Given the description of an element on the screen output the (x, y) to click on. 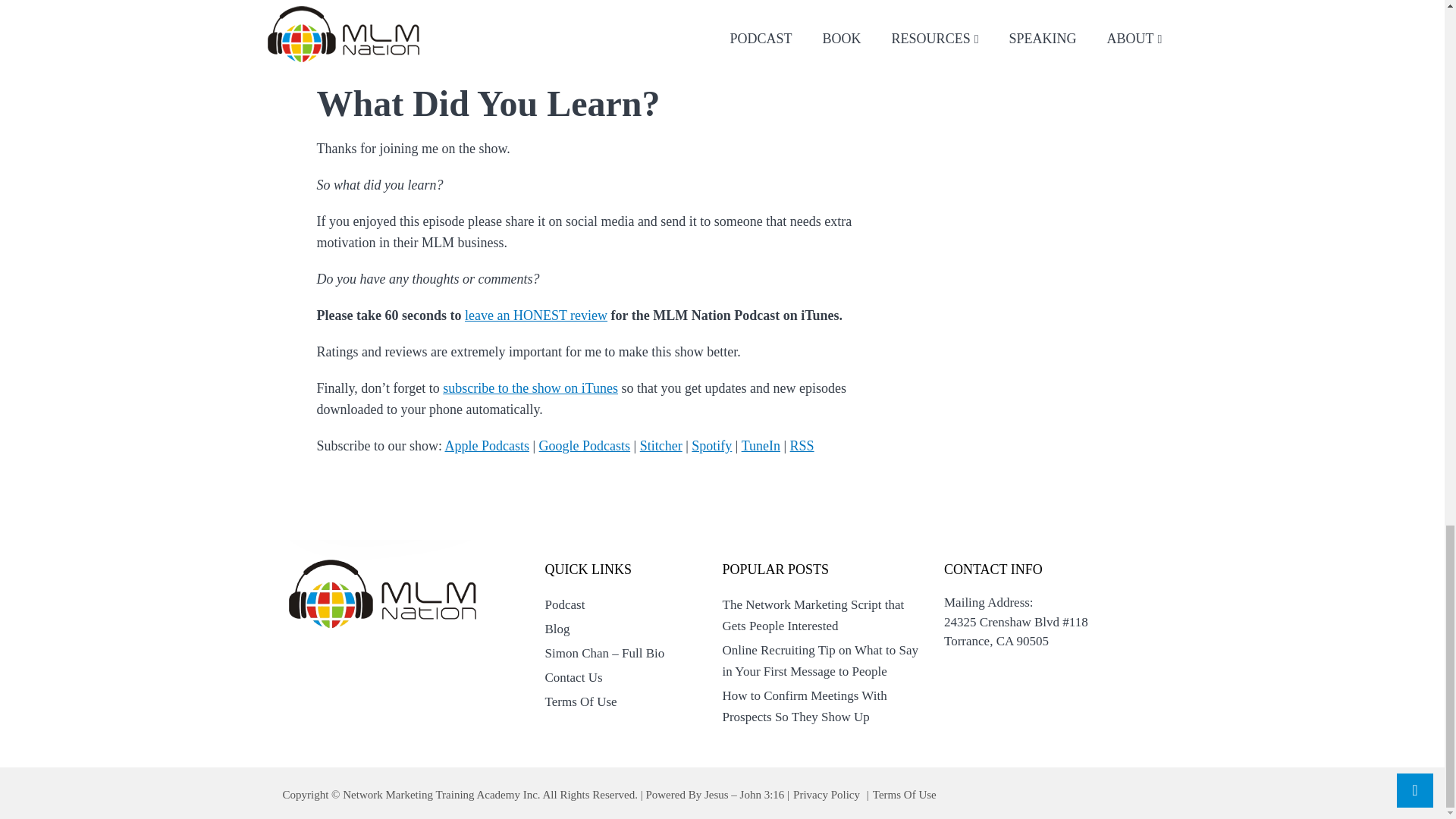
Instagram (377, 37)
leave an HONEST review (535, 314)
subscribe to the show on iTunes (529, 387)
Facebook (376, 16)
Email (365, 58)
